Given the description of an element on the screen output the (x, y) to click on. 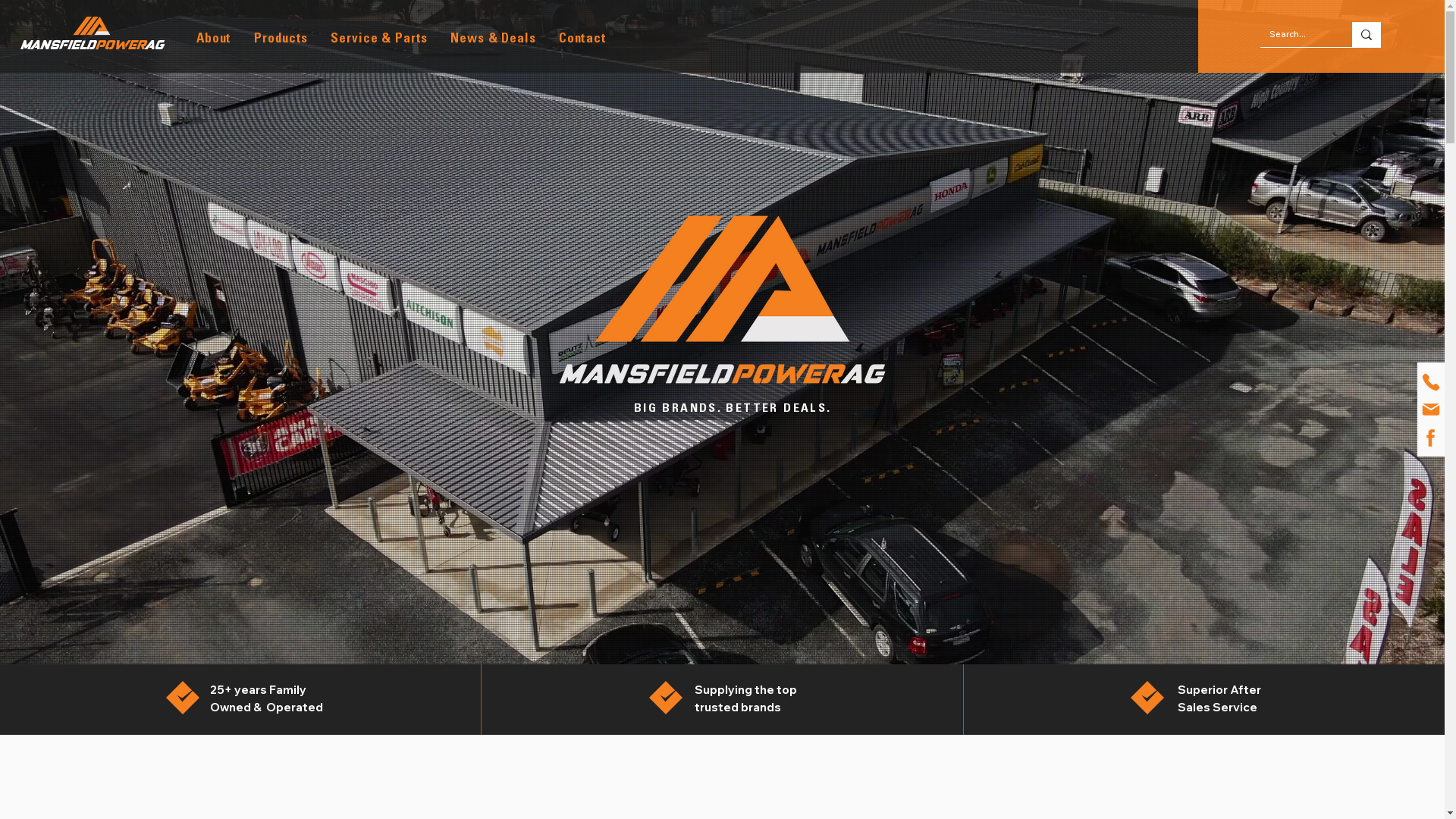
Service & Parts Element type: text (379, 38)
MANSFIELDPOWERAG Element type: text (91, 45)
Contact Element type: text (583, 38)
